Given the description of an element on the screen output the (x, y) to click on. 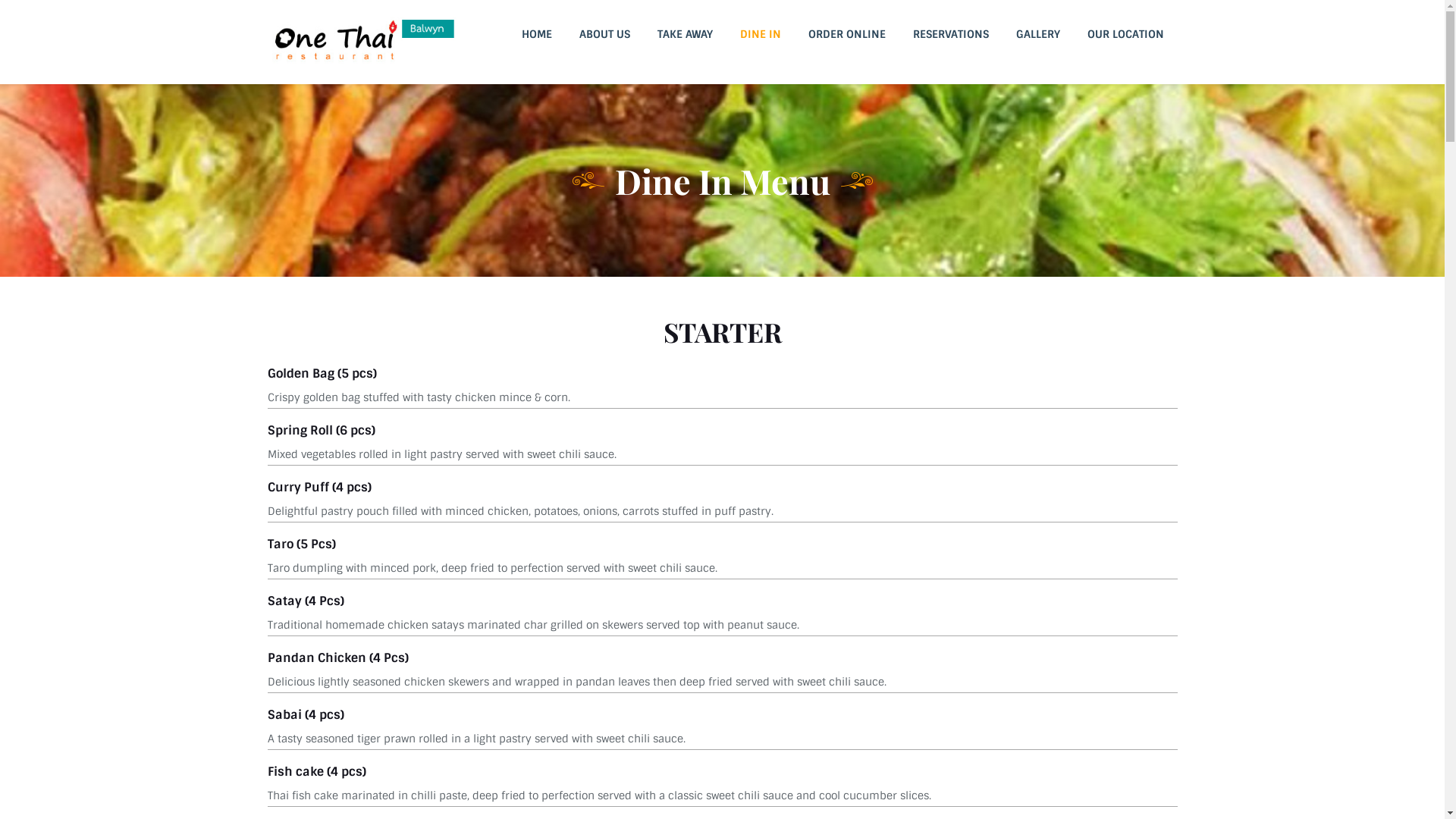
DINE IN Element type: text (760, 34)
GALLERY Element type: text (1037, 34)
OUR LOCATION Element type: text (1125, 34)
ORDER ONLINE Element type: text (846, 34)
HOME Element type: text (536, 34)
RESERVATIONS Element type: text (950, 34)
TAKE AWAY Element type: text (684, 34)
ABOUT US Element type: text (604, 34)
